Given the description of an element on the screen output the (x, y) to click on. 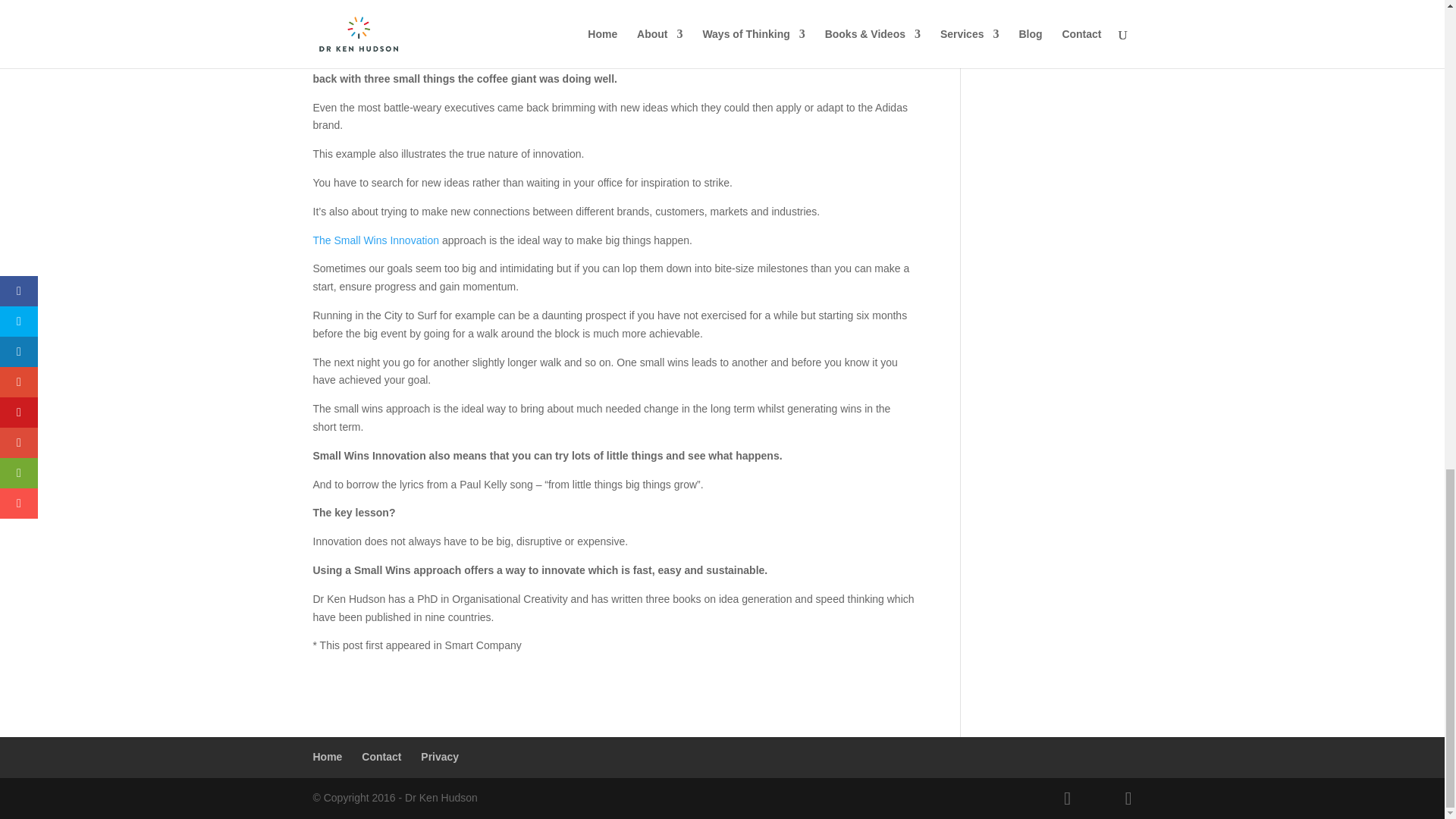
Privacy (439, 756)
The Small Wins Innovation (376, 240)
Contact (381, 756)
Home (327, 756)
